Given the description of an element on the screen output the (x, y) to click on. 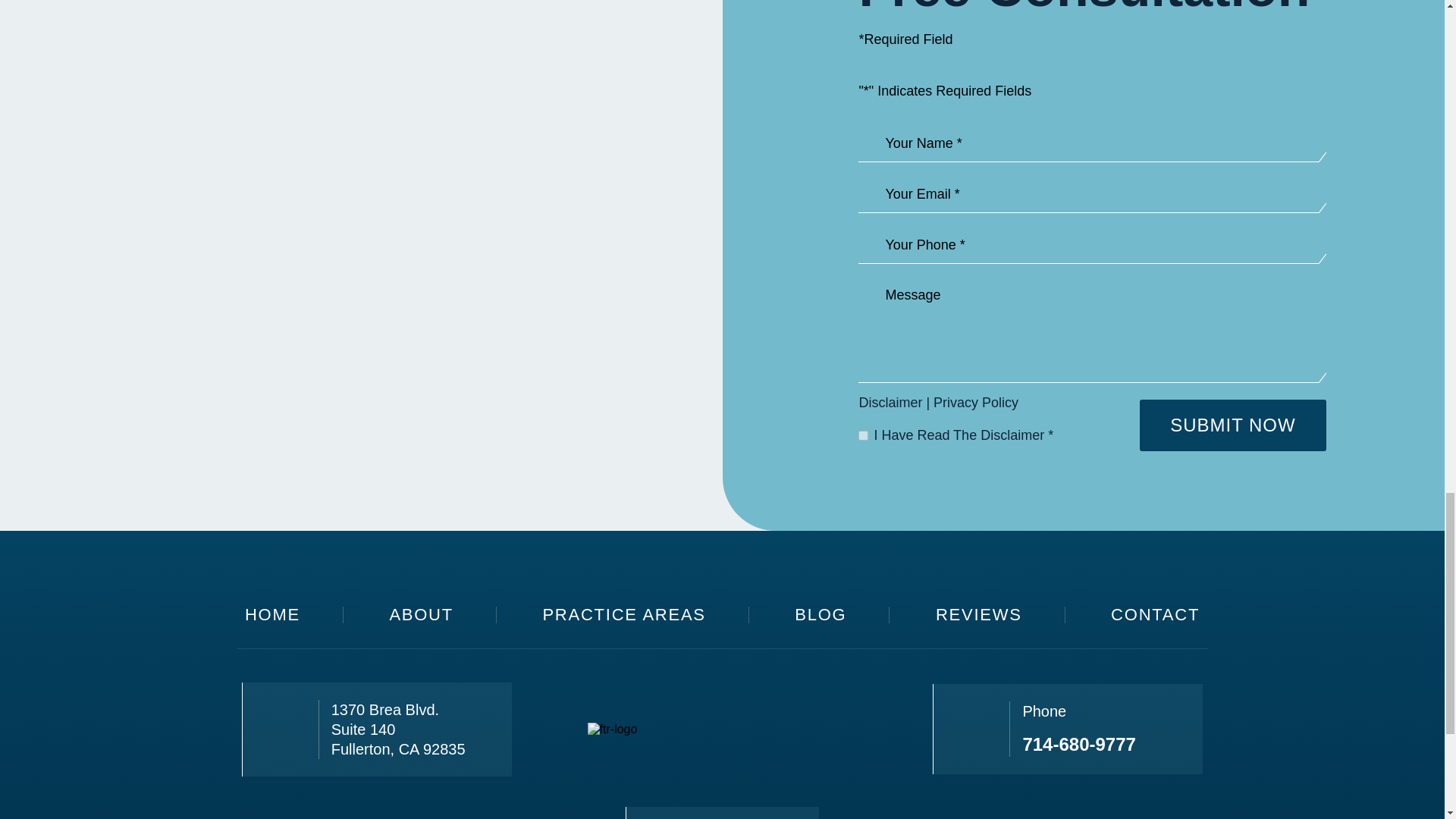
Submit Now (1232, 425)
